Given the description of an element on the screen output the (x, y) to click on. 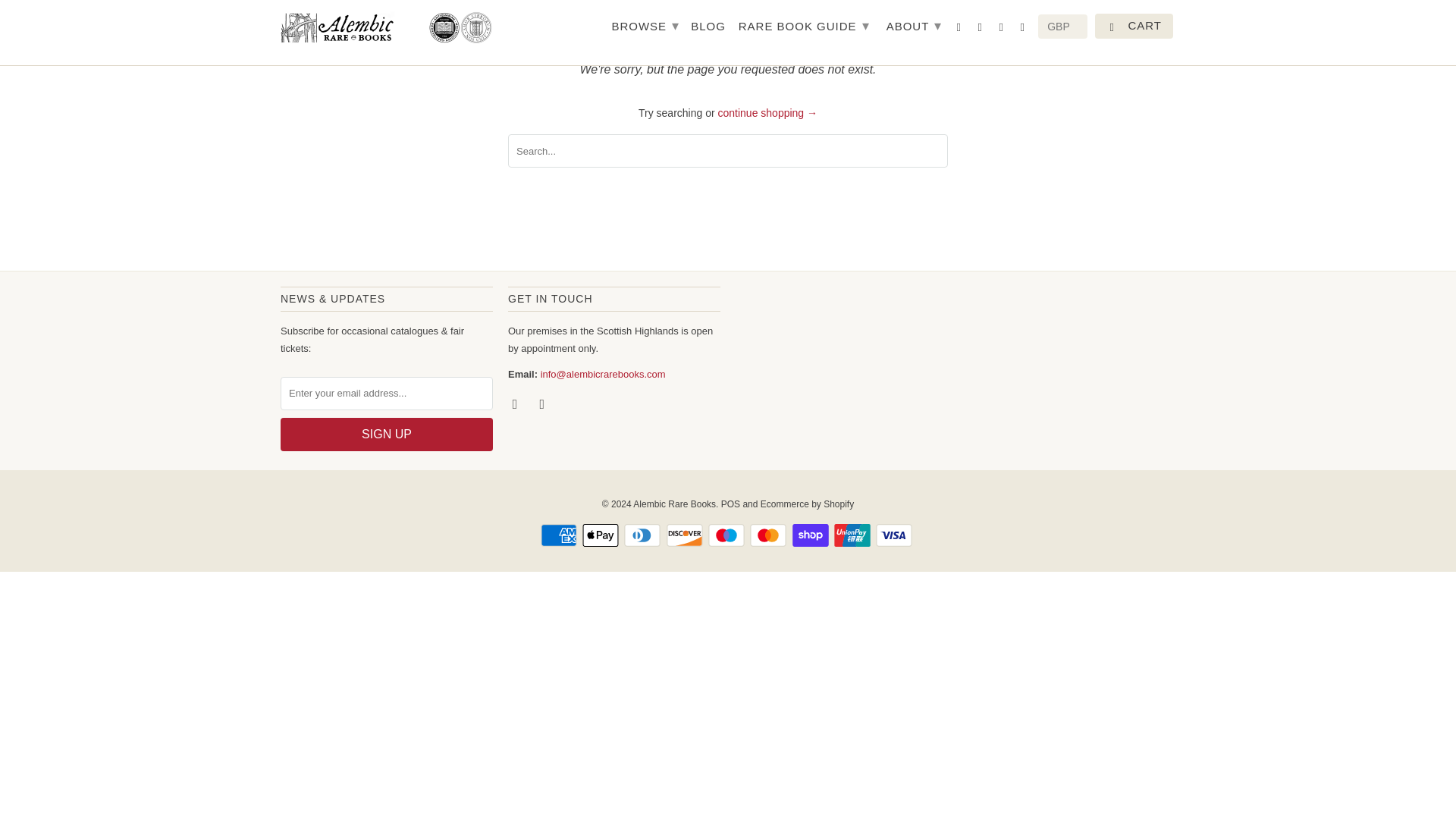
Union Pay (853, 535)
American Express (559, 535)
Maestro (727, 535)
Apple Pay (601, 535)
Shop Pay (811, 535)
Mastercard (769, 535)
Alembic Rare Books (387, 27)
Sign Up (387, 434)
Alembic Rare Books on Instagram (516, 403)
Diners Club (643, 535)
Discover (686, 535)
Visa (895, 535)
Email Alembic Rare Books (543, 403)
